Given the description of an element on the screen output the (x, y) to click on. 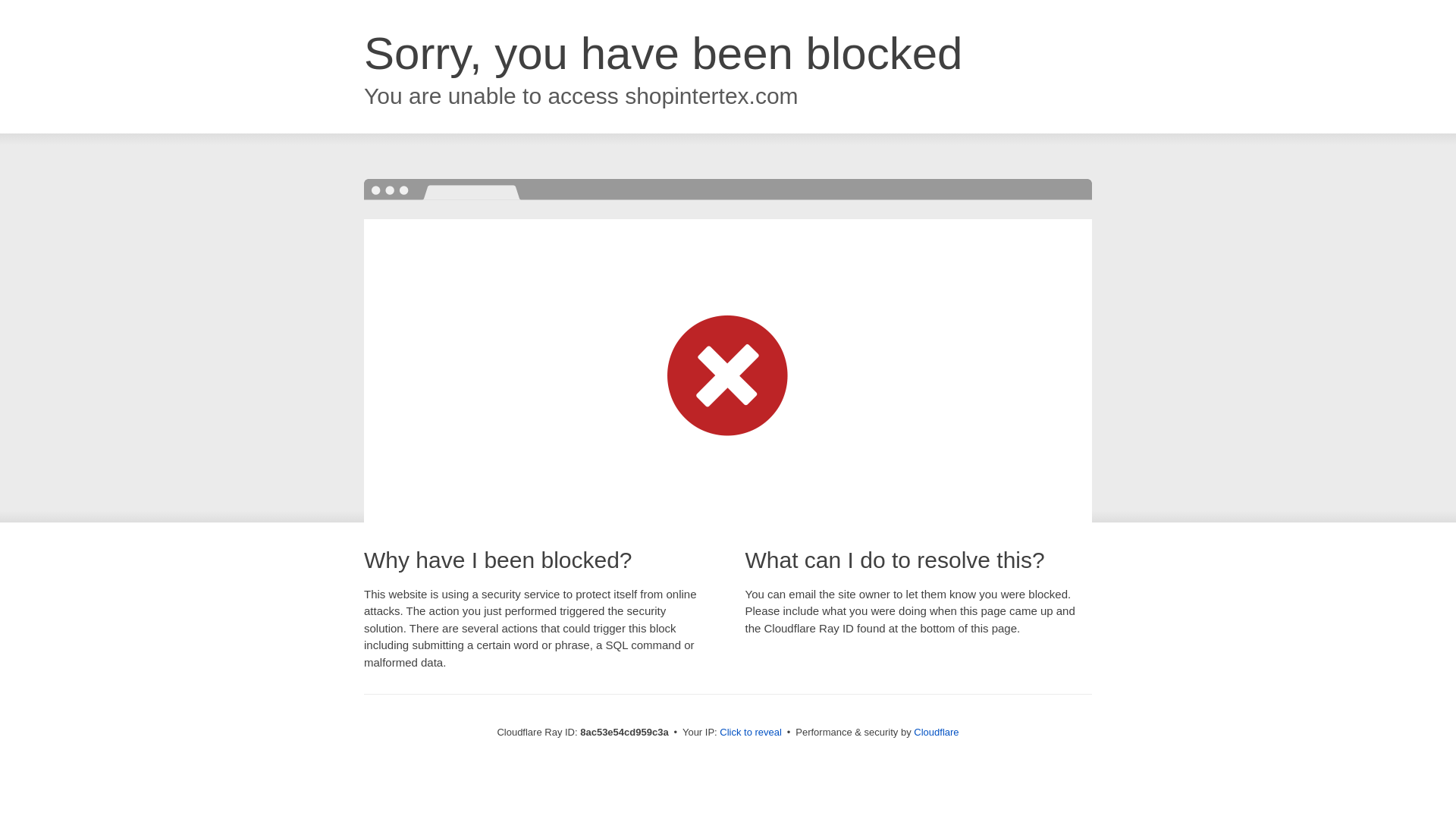
Cloudflare (936, 731)
Click to reveal (750, 732)
